Given the description of an element on the screen output the (x, y) to click on. 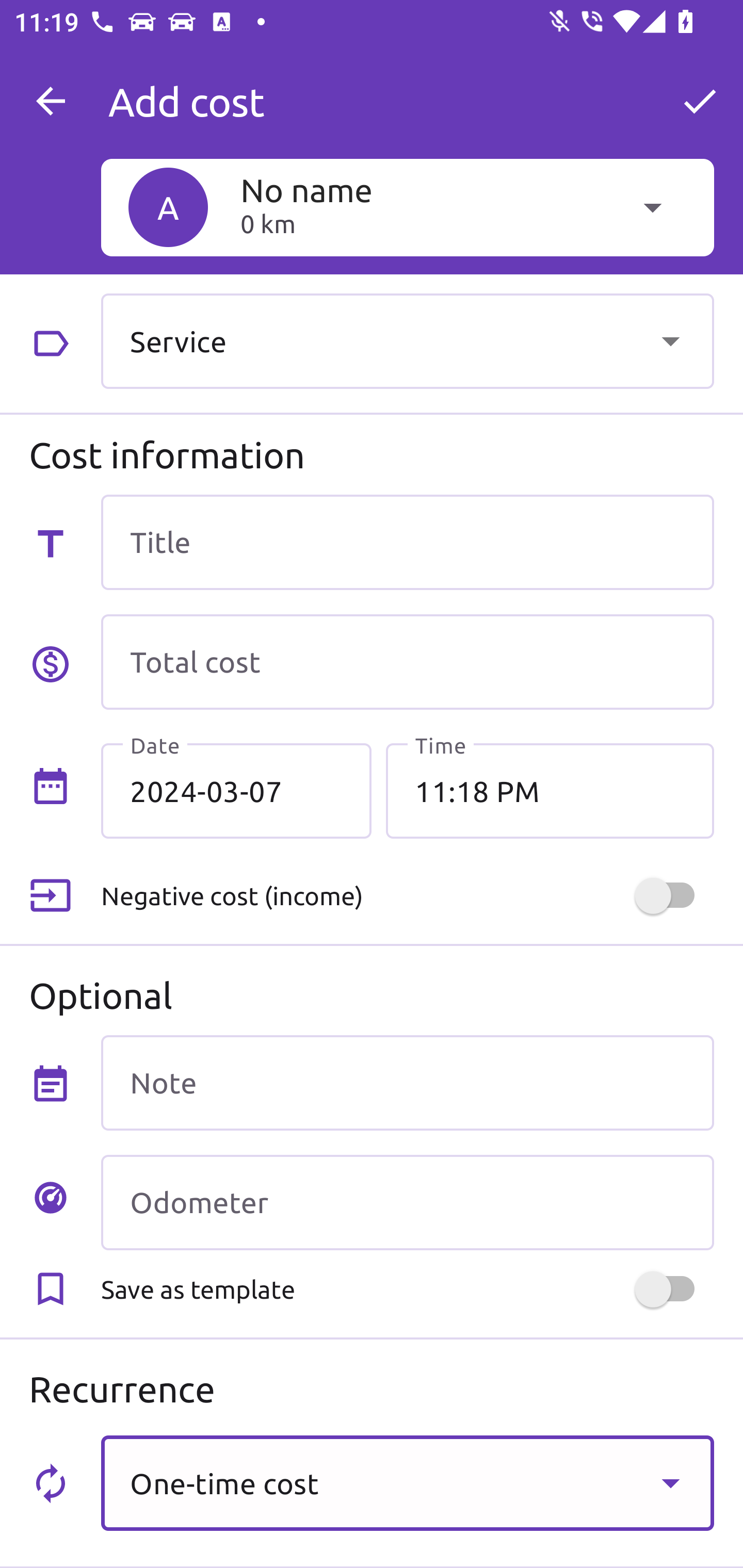
Navigate up (50, 101)
OK (699, 101)
A No name 0 km (407, 206)
Service (407, 340)
Show dropdown menu (670, 340)
Title (407, 541)
Total cost  (407, 662)
2024-03-07 (236, 790)
11:18 PM (549, 790)
Negative cost (income) (407, 895)
Note (407, 1082)
Odometer (407, 1202)
Save as template (407, 1289)
One-time cost (407, 1482)
Show dropdown menu (670, 1482)
